Given the description of an element on the screen output the (x, y) to click on. 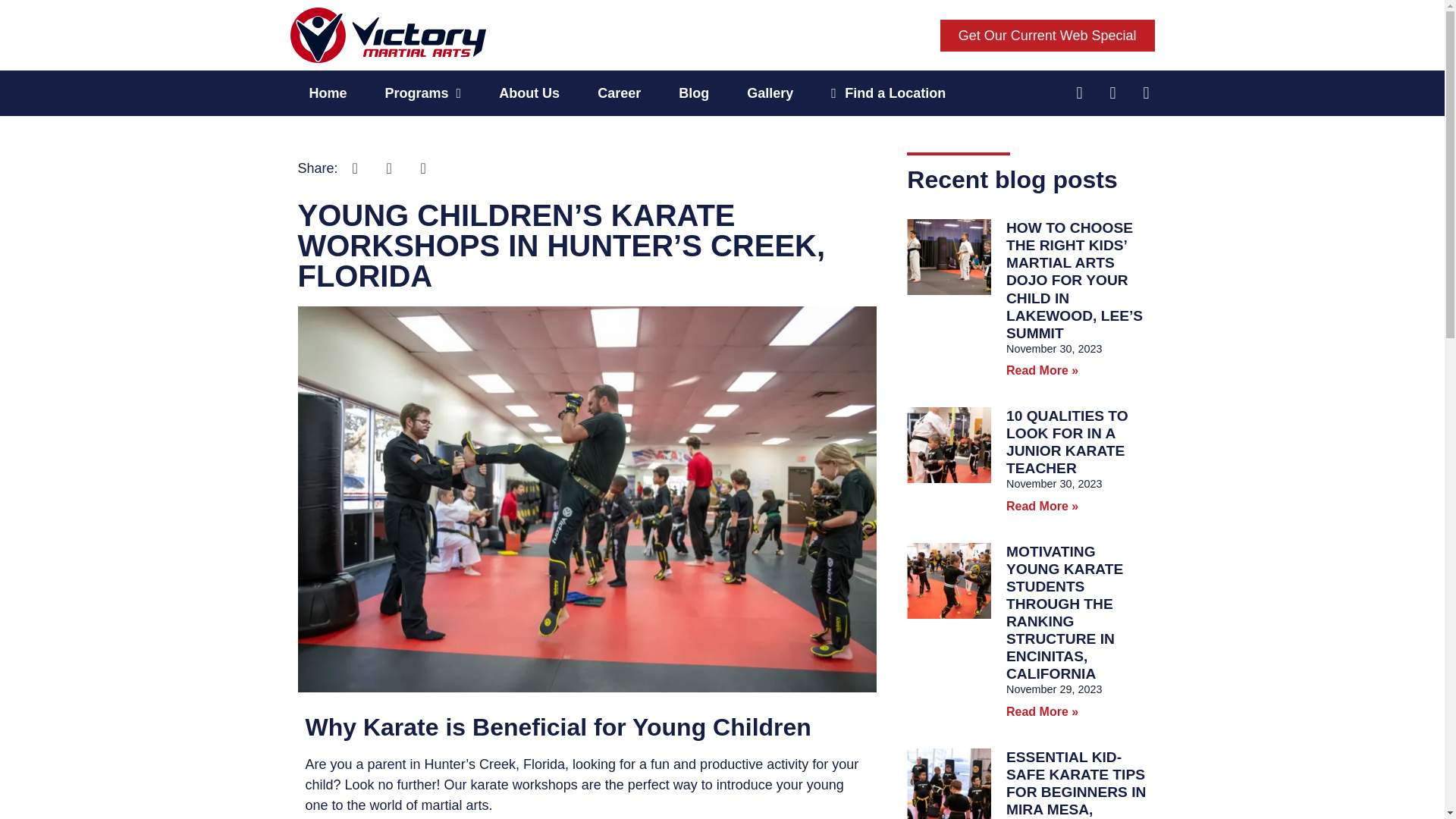
Get Our Current Web Special (1047, 35)
